Given the description of an element on the screen output the (x, y) to click on. 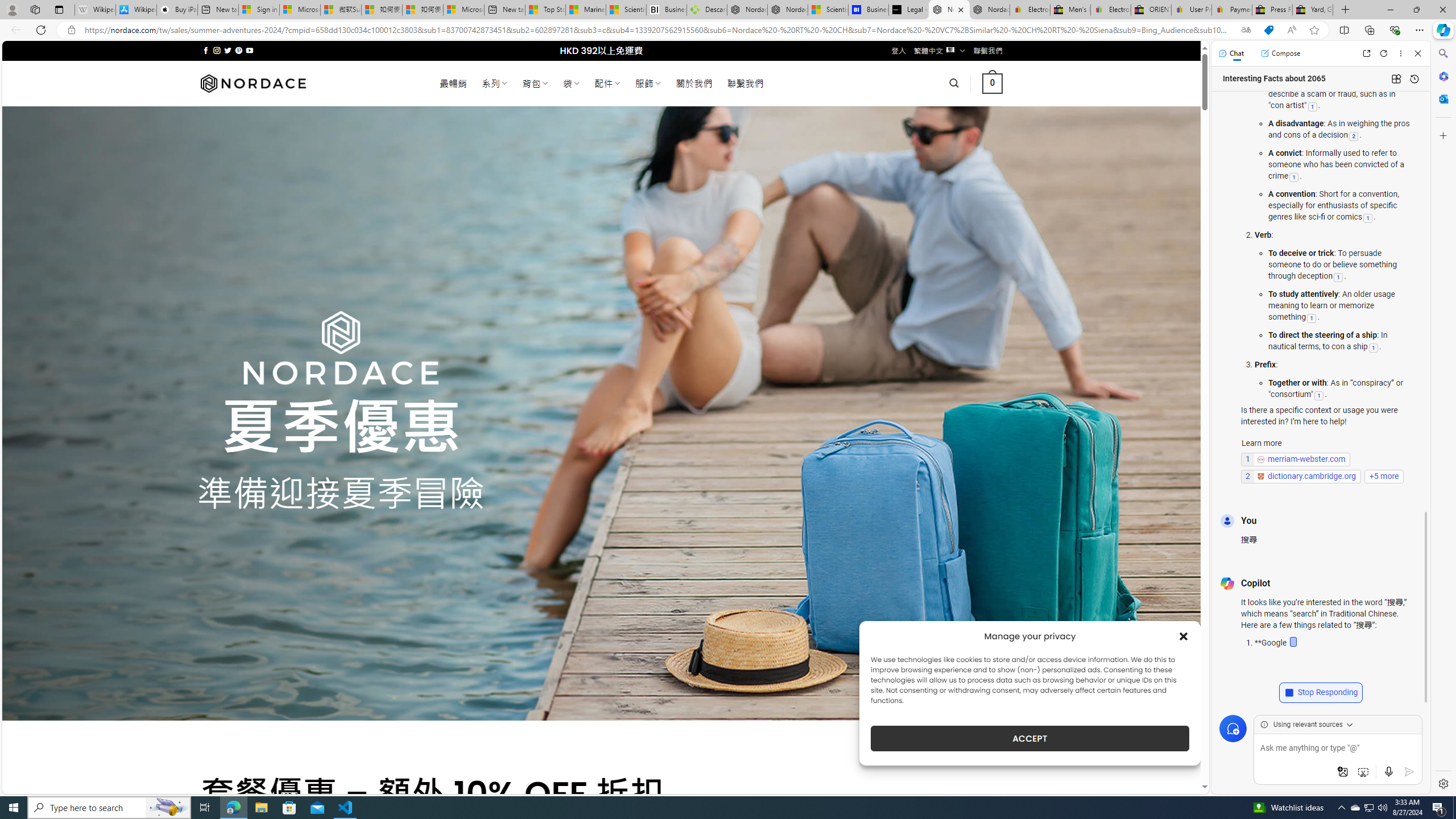
Payments Terms of Use | eBay.com (1231, 9)
Top Stories - MSN (544, 9)
Buy iPad - Apple (176, 9)
Follow on Facebook (205, 50)
